Given the description of an element on the screen output the (x, y) to click on. 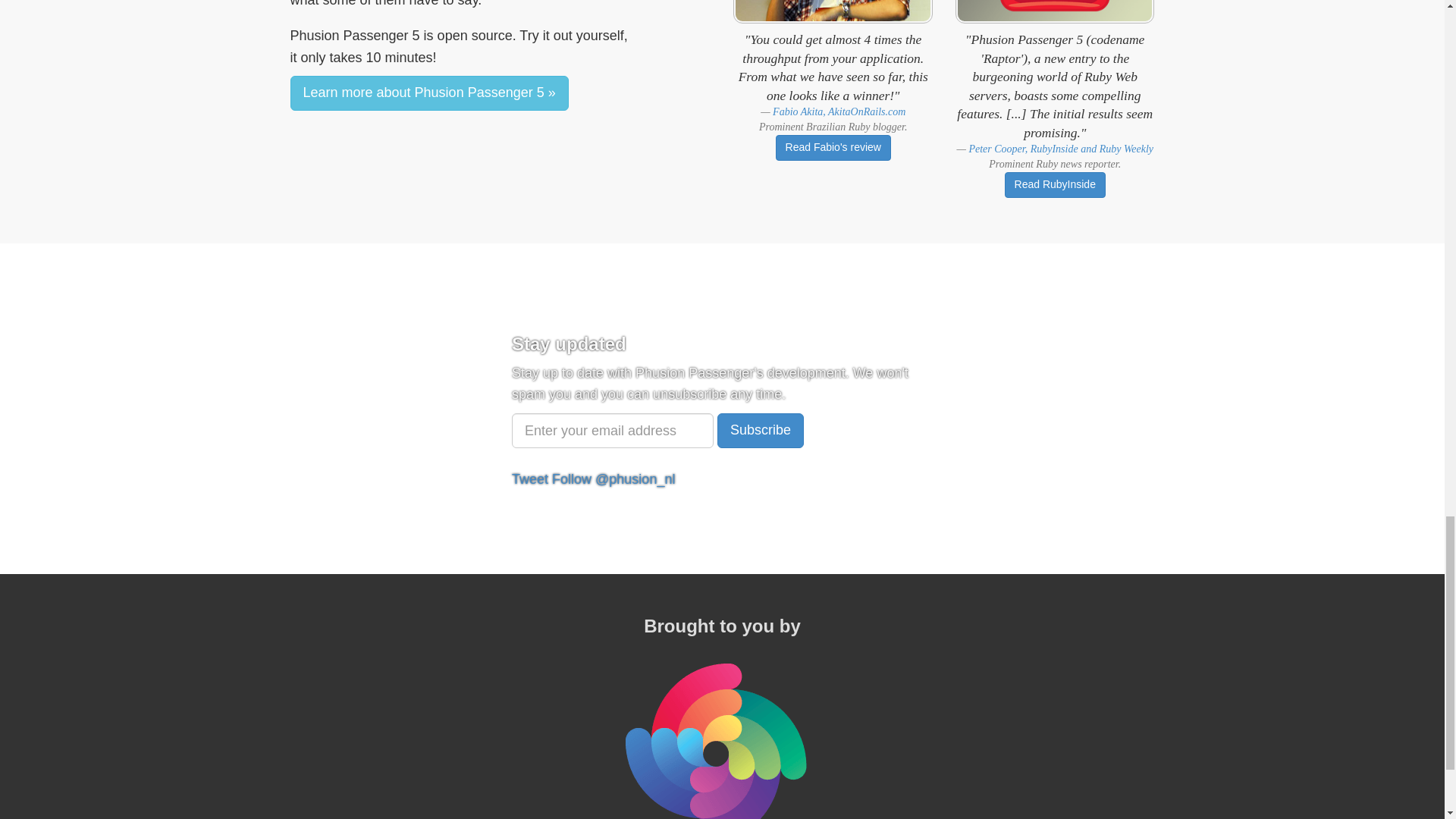
Read RubyInside (1054, 184)
Subscribe (760, 430)
Fabio Akita, AkitaOnRails.com (839, 111)
Peter Cooper, RubyInside and Ruby Weekly (1060, 148)
Tweet (530, 478)
Subscribe (760, 430)
Read Fabio's review (833, 147)
